Given the description of an element on the screen output the (x, y) to click on. 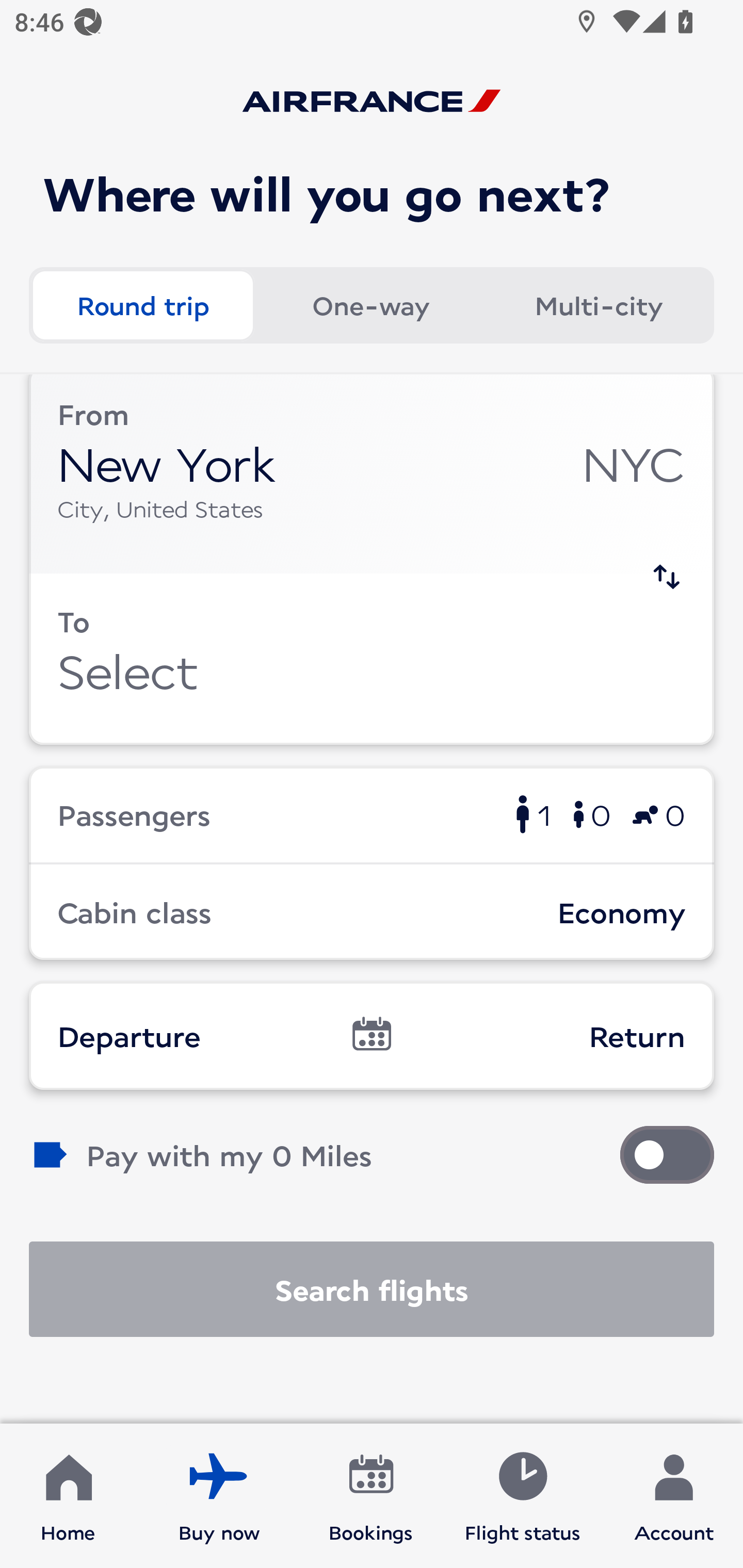
Round trip (142, 304)
One-way (370, 304)
Multi-city (598, 304)
From New York NYC City, United States (371, 473)
To Select (371, 658)
Passengers 1 0 0 (371, 814)
Cabin class Economy (371, 911)
Departure Return (371, 1035)
Search flights (371, 1289)
Home (68, 1495)
Bookings (370, 1495)
Flight status (522, 1495)
Account (674, 1495)
